Given the description of an element on the screen output the (x, y) to click on. 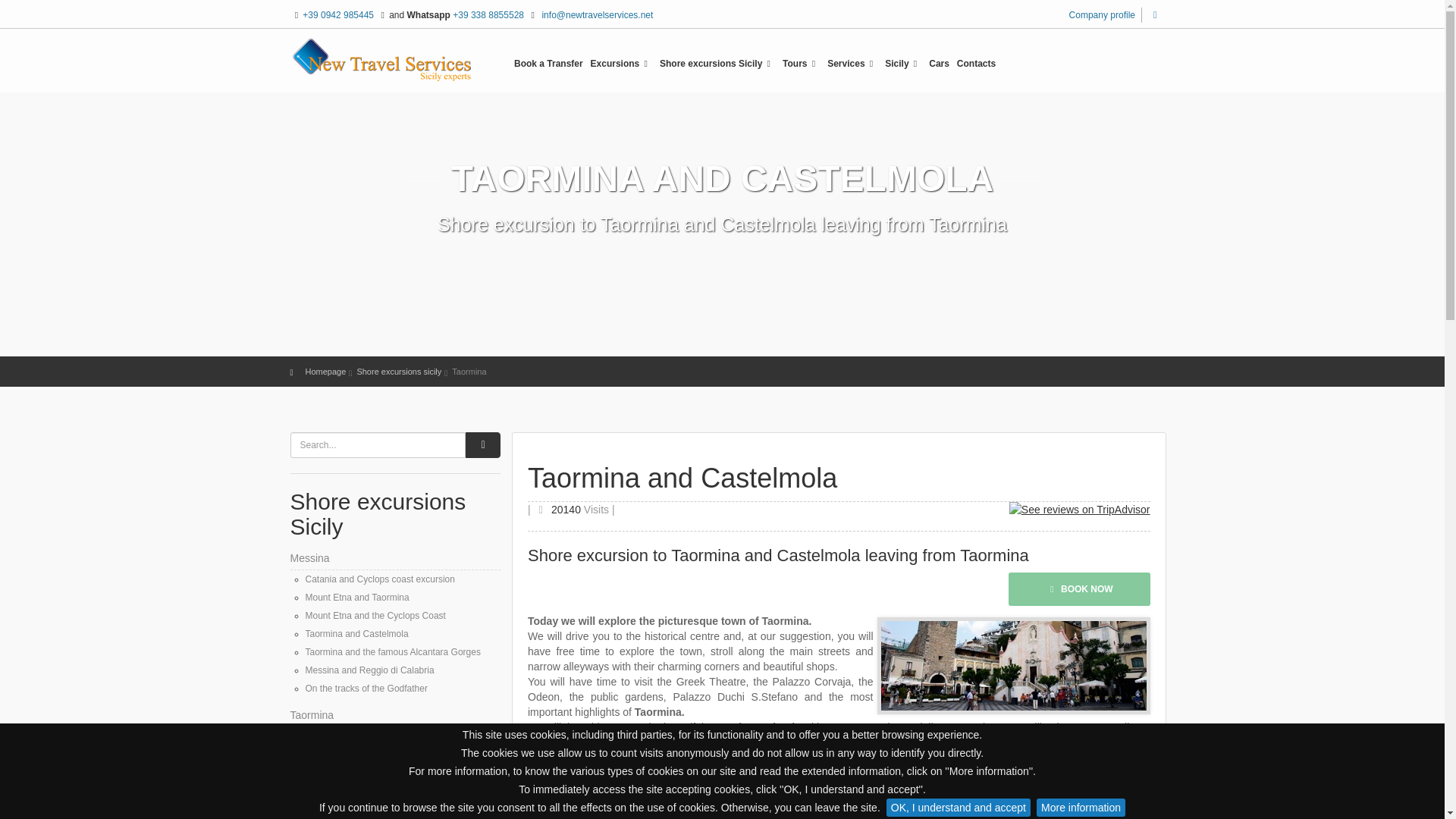
Book a Transfer (548, 68)
Search (1154, 14)
Send us a WhatsApp message (488, 14)
Excursions (620, 68)
Send an mail to: Sicily Excursions (596, 14)
Our mission and company profile (1101, 14)
Company profile (1101, 14)
Call us (338, 14)
